Given the description of an element on the screen output the (x, y) to click on. 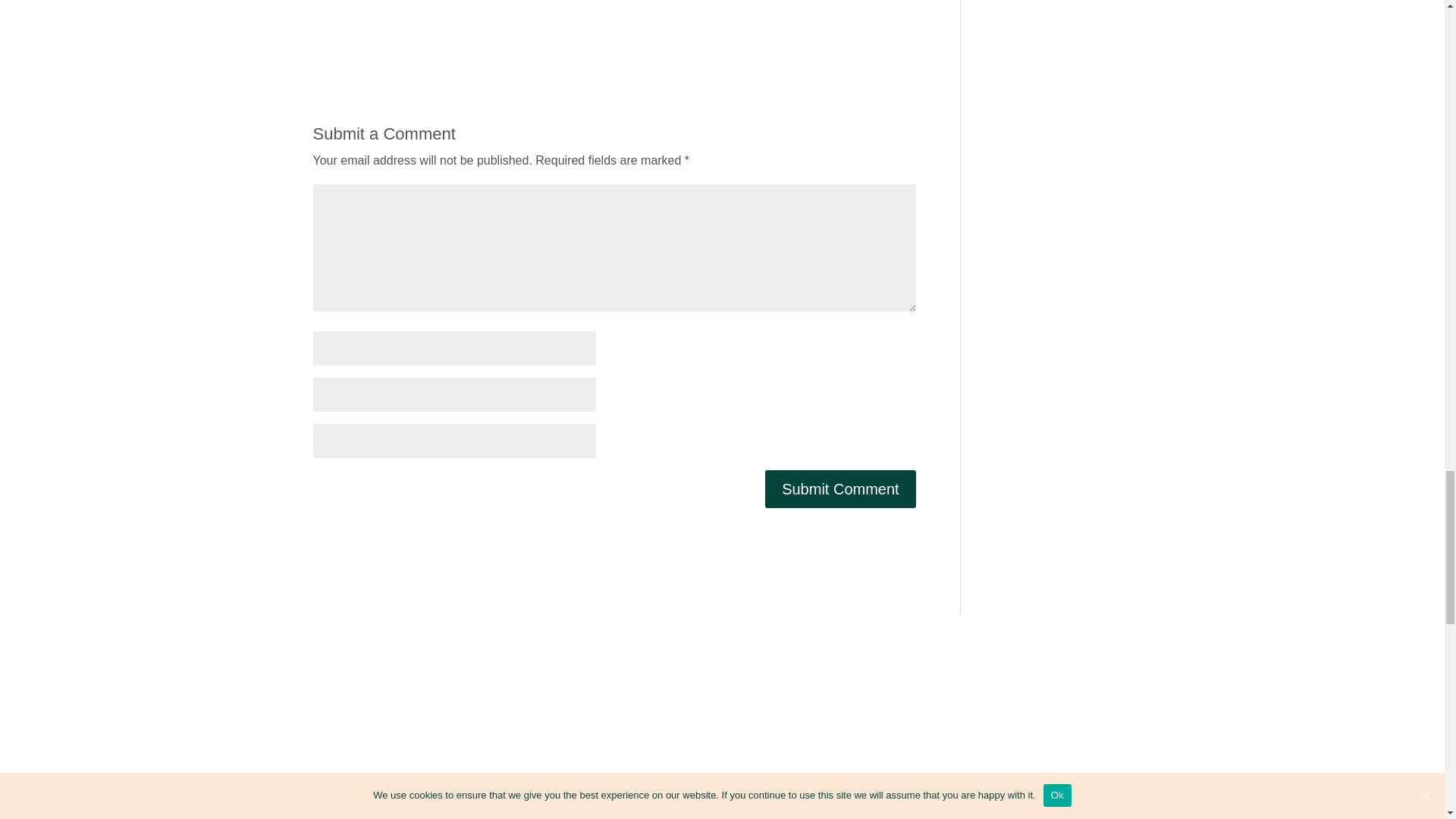
Submit Comment (840, 488)
